Given the description of an element on the screen output the (x, y) to click on. 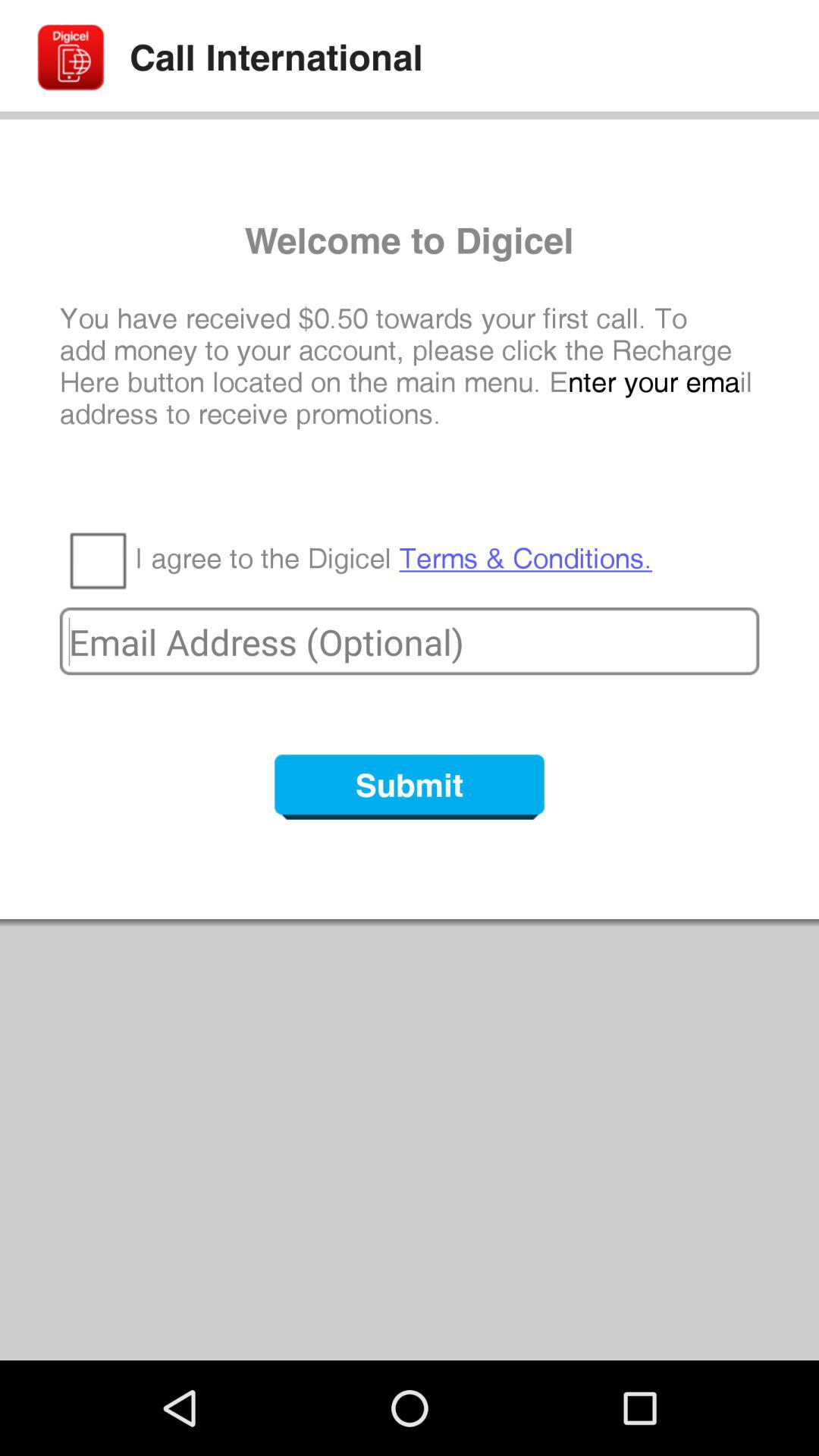
enter email address (409, 641)
